Given the description of an element on the screen output the (x, y) to click on. 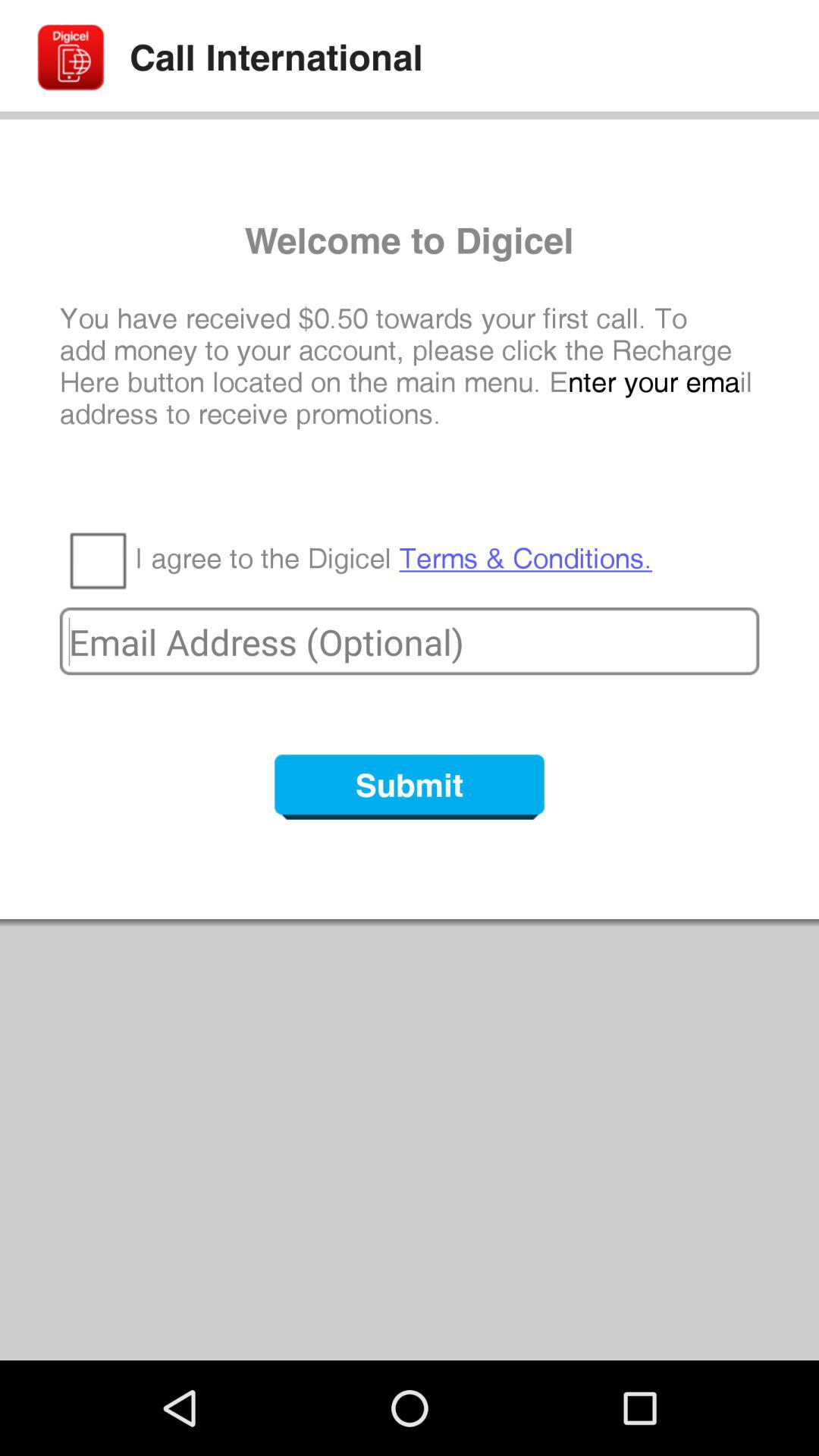
enter email address (409, 641)
